Given the description of an element on the screen output the (x, y) to click on. 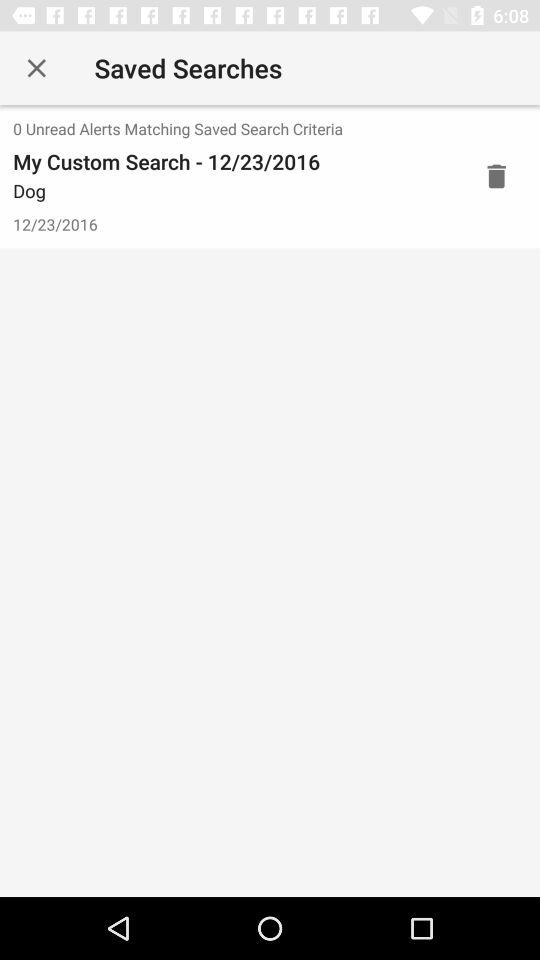
delete this entry (496, 176)
